Given the description of an element on the screen output the (x, y) to click on. 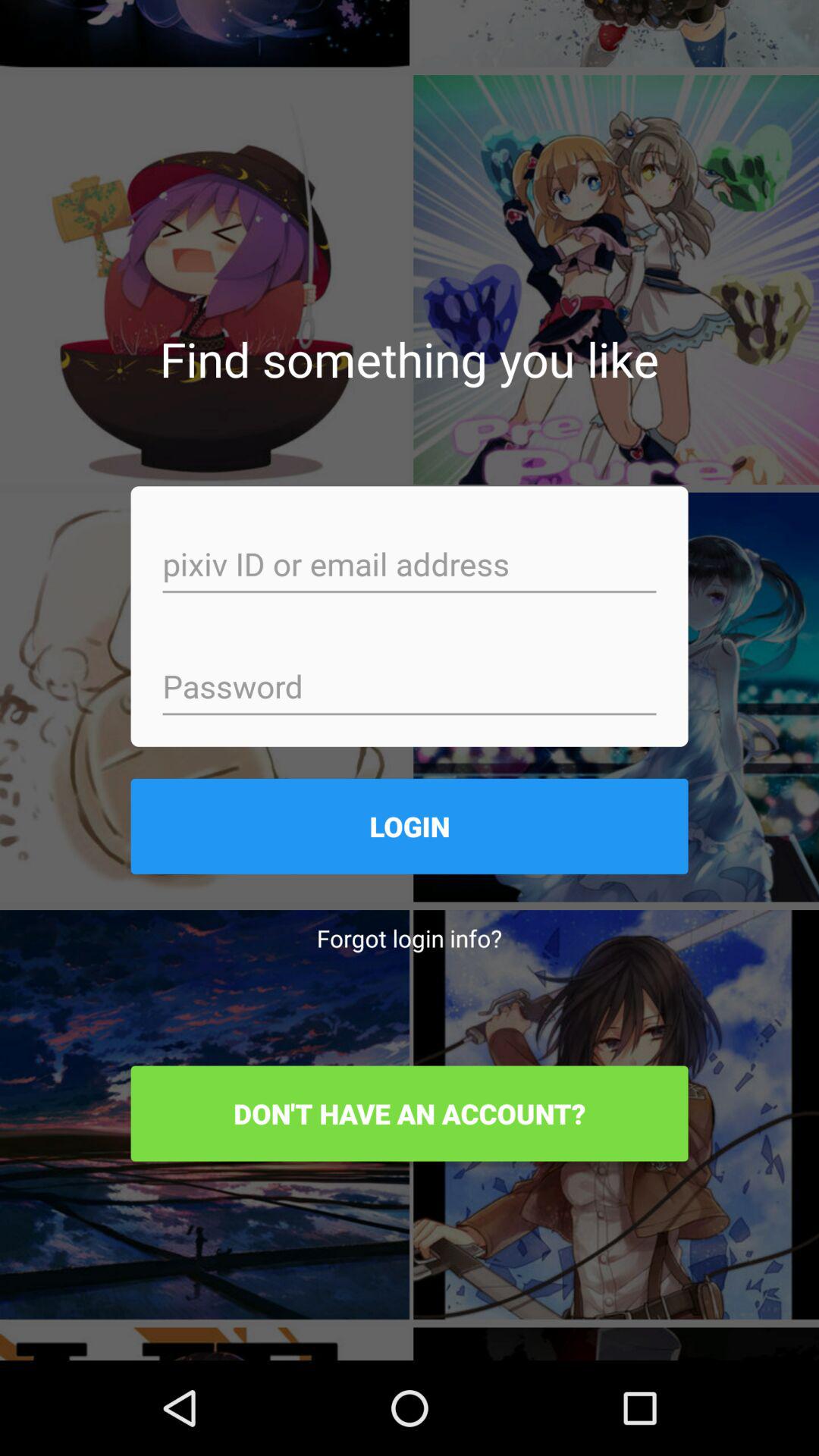
launch the icon above don t have (409, 938)
